Given the description of an element on the screen output the (x, y) to click on. 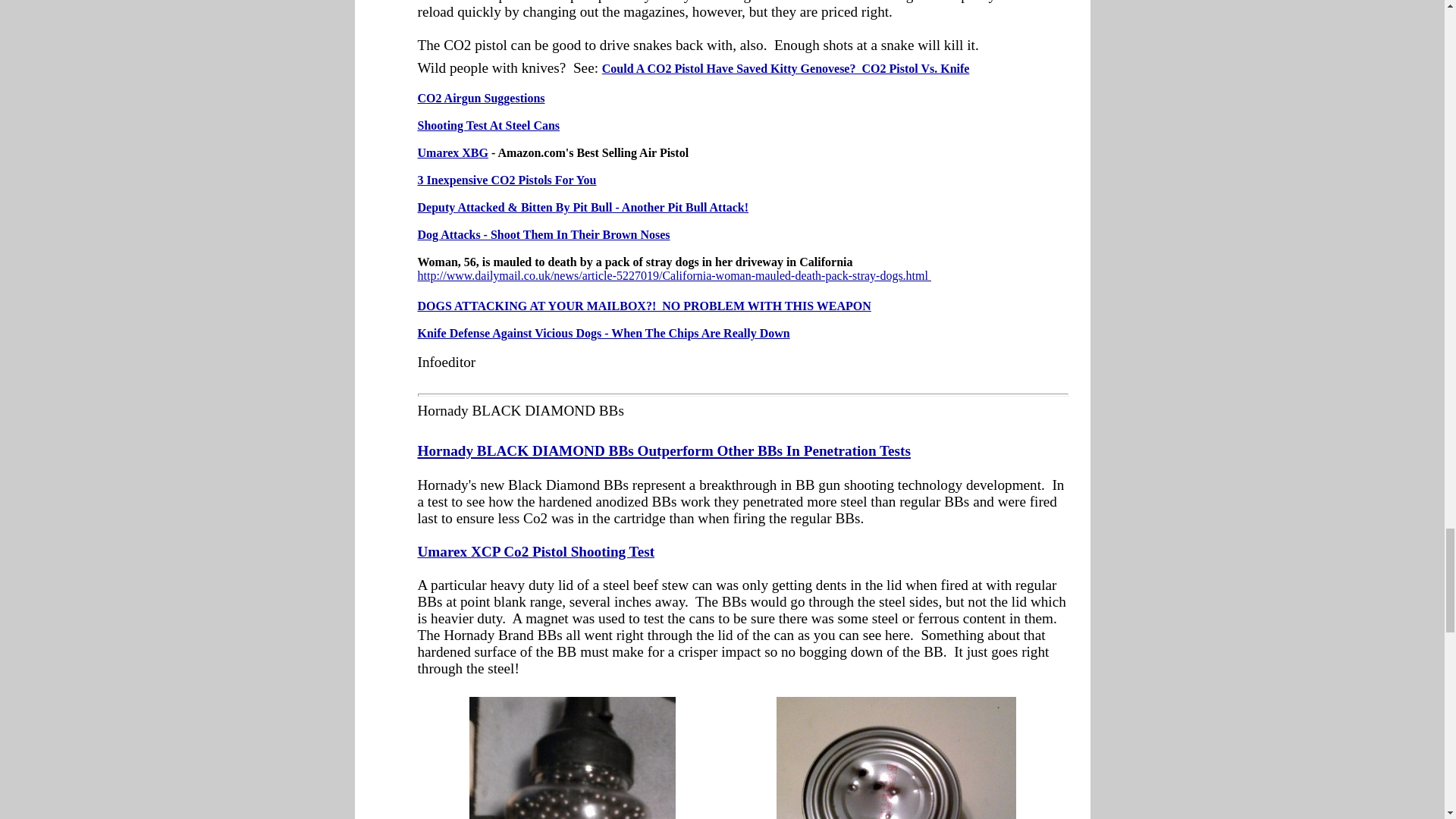
3 Inexpensive CO2 Pistols For You (505, 179)
Shooting Test At Steel Cans (487, 125)
Umarex XBG (451, 152)
CO2 Airgun Suggestions (480, 98)
